Given the description of an element on the screen output the (x, y) to click on. 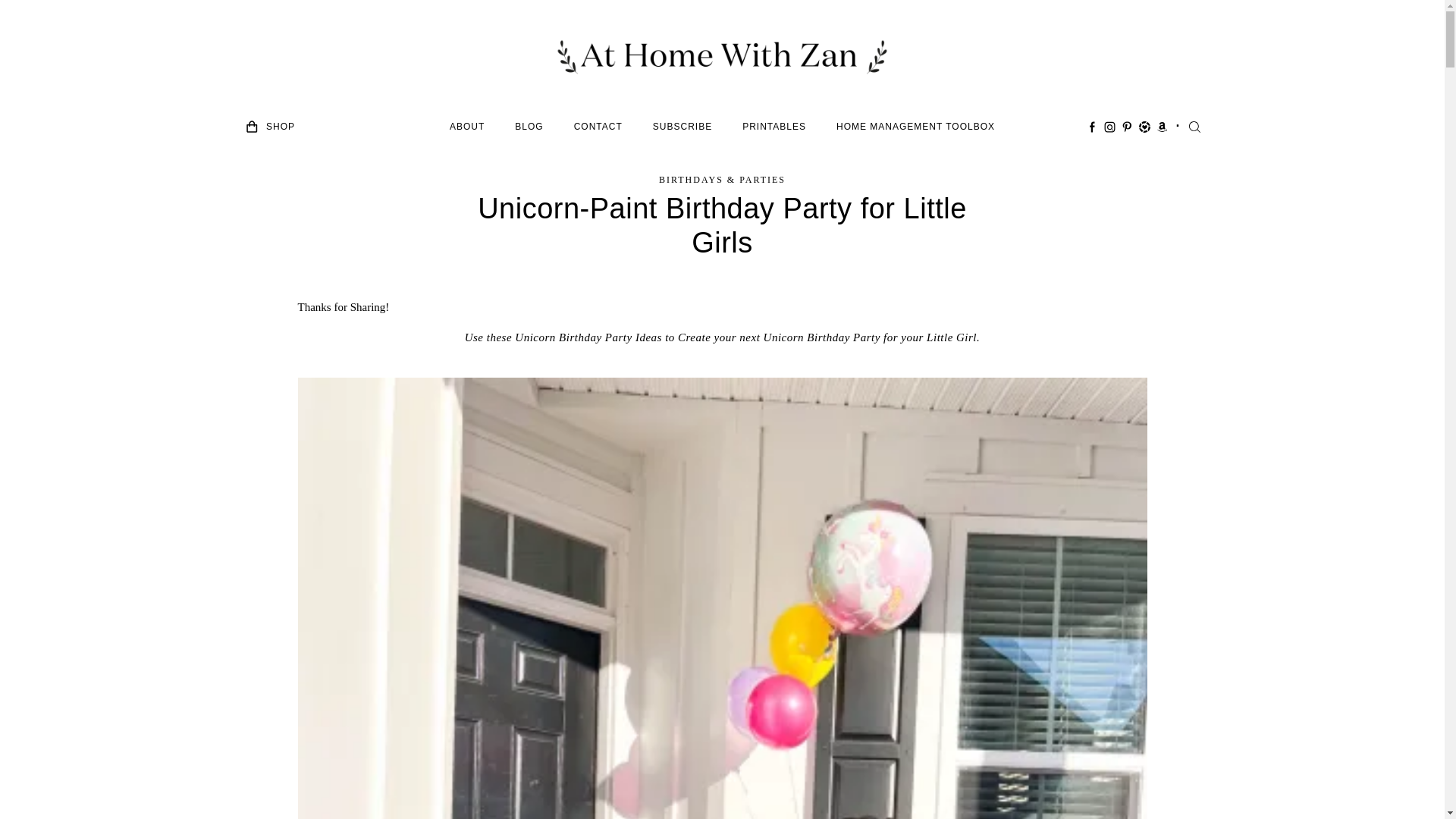
BLOG (529, 126)
ABOUT (466, 126)
PRINTABLES (774, 126)
SHOP (280, 126)
HOME MANAGEMENT TOOLBOX (914, 126)
SUBSCRIBE (681, 126)
CONTACT (598, 126)
